Given the description of an element on the screen output the (x, y) to click on. 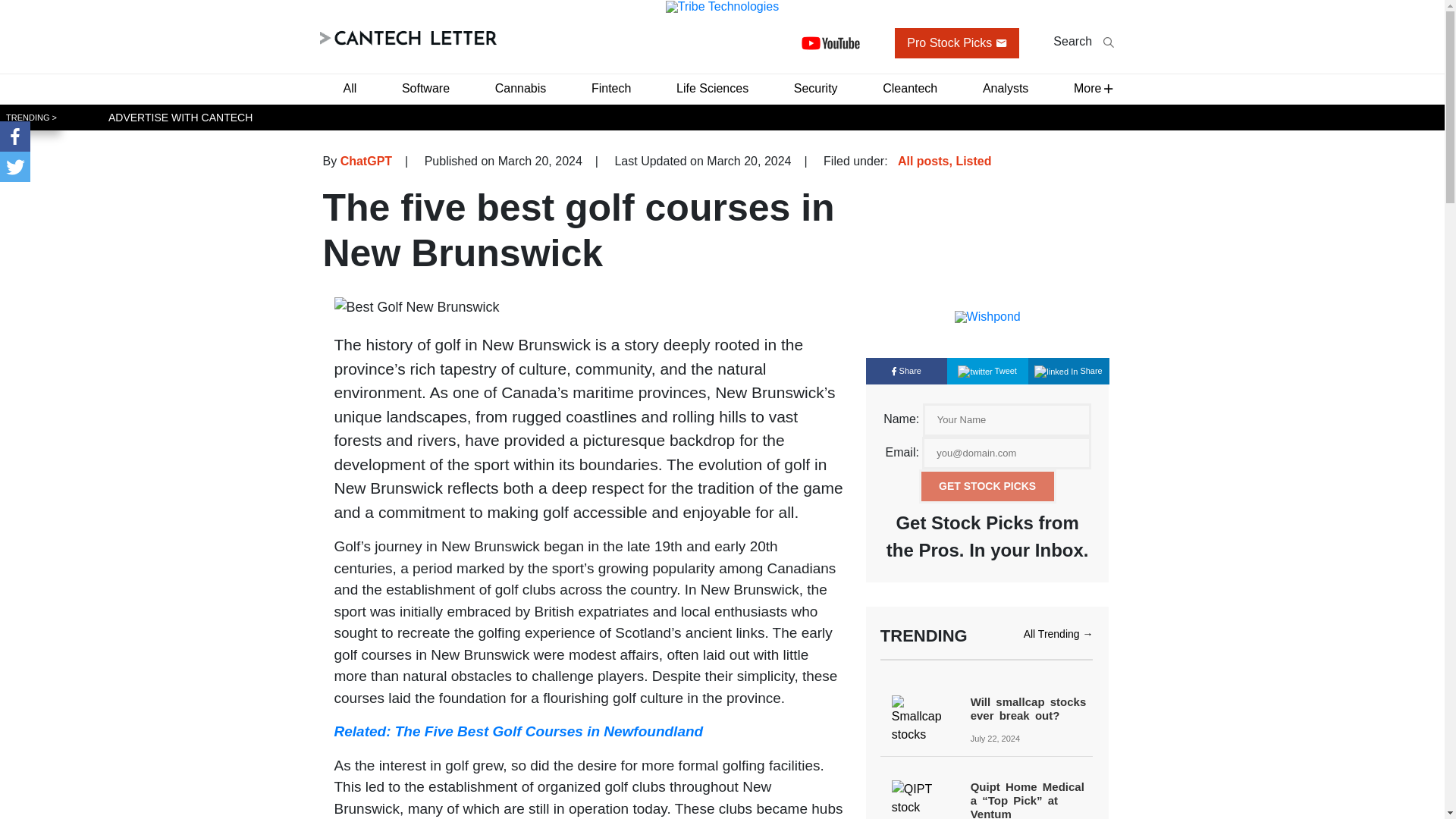
Cleantech (909, 88)
Cannabis (521, 88)
Pro Stock Picks (957, 42)
Security (815, 88)
Fintech (611, 88)
Software (425, 88)
ChatGPT (365, 160)
Life Sciences (711, 88)
Listed (973, 160)
Facebook (15, 136)
GET STOCK PICKS (987, 486)
All posts (923, 160)
Related: The Five Best Golf Courses in Newfoundland (518, 731)
Twitter (15, 166)
Analysts (1006, 88)
